Given the description of an element on the screen output the (x, y) to click on. 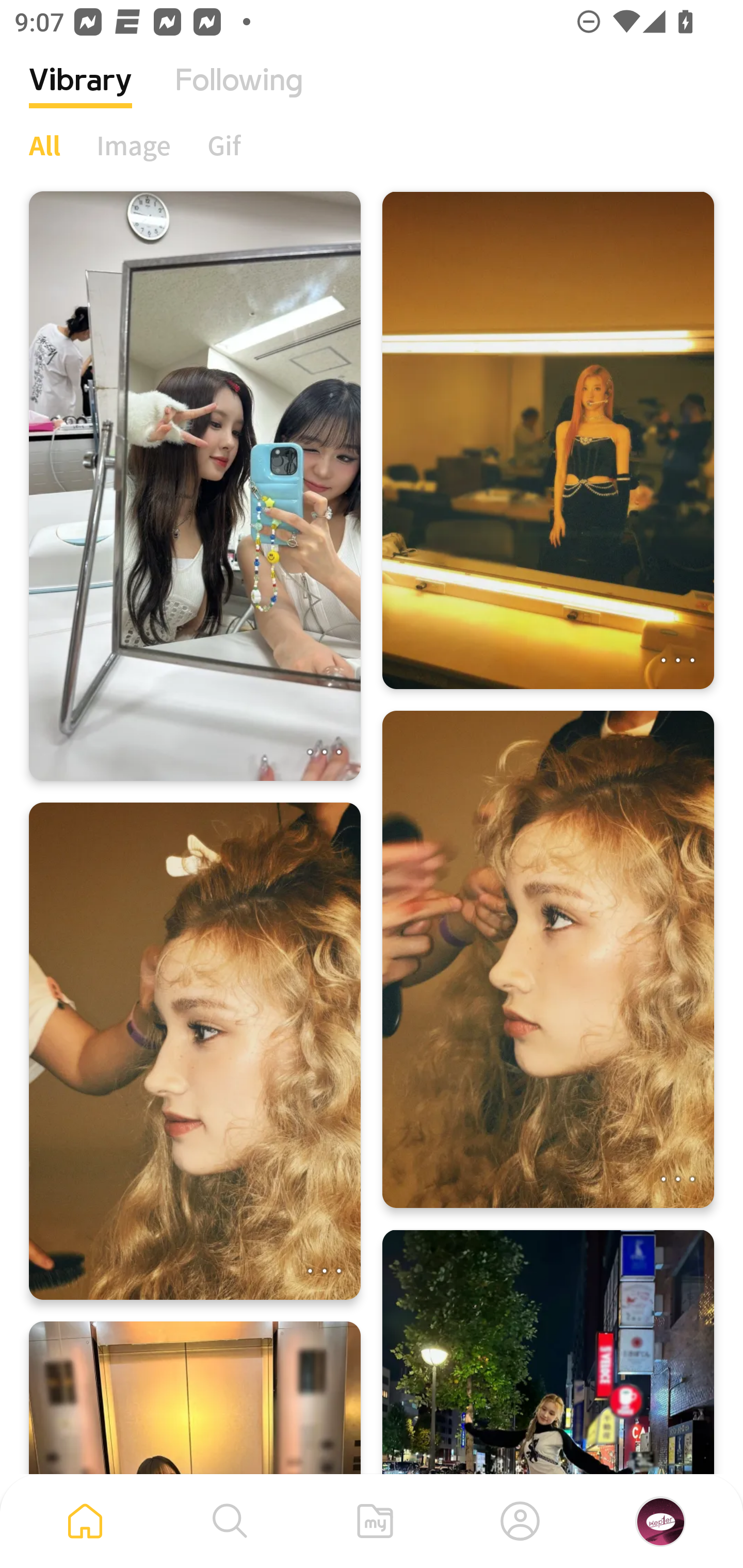
Vibrary (80, 95)
Following (239, 95)
All (44, 145)
Image (133, 145)
Gif (223, 145)
